Given the description of an element on the screen output the (x, y) to click on. 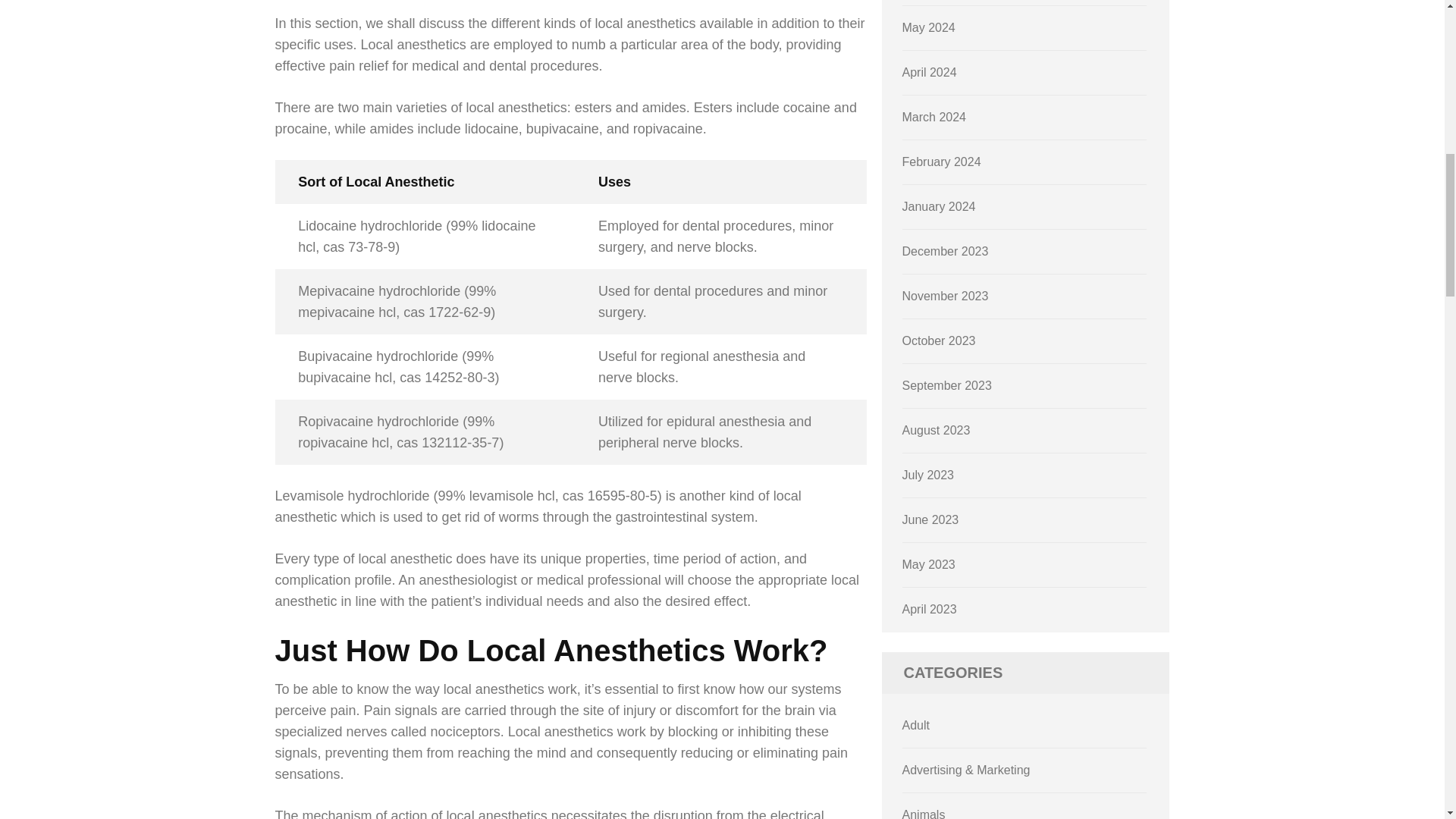
August 2023 (936, 430)
April 2023 (929, 608)
May 2024 (928, 27)
January 2024 (938, 205)
November 2023 (945, 295)
April 2024 (929, 72)
July 2023 (928, 474)
March 2024 (934, 116)
May 2023 (928, 563)
September 2023 (946, 385)
